Given the description of an element on the screen output the (x, y) to click on. 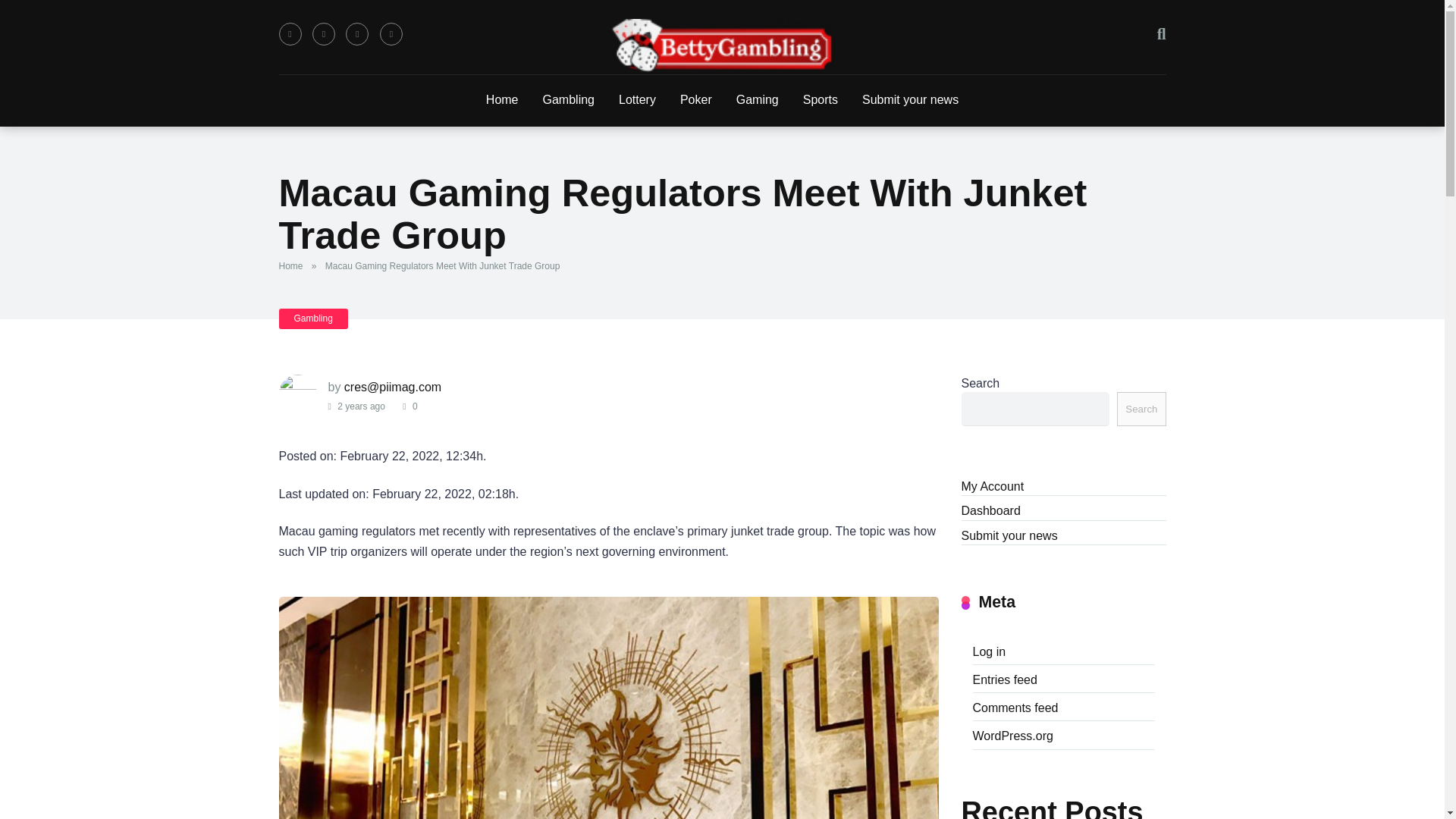
Gambling (313, 318)
Facebook (290, 33)
YouTube (357, 33)
WordPress.org (1012, 734)
Gaming (756, 100)
Gambling (569, 100)
Home (502, 100)
Home (293, 266)
Twitter (323, 33)
Log in (989, 650)
Entries feed (1004, 678)
Submit your news (1009, 534)
Lottery (637, 100)
My Account (992, 485)
Poker (695, 100)
